Given the description of an element on the screen output the (x, y) to click on. 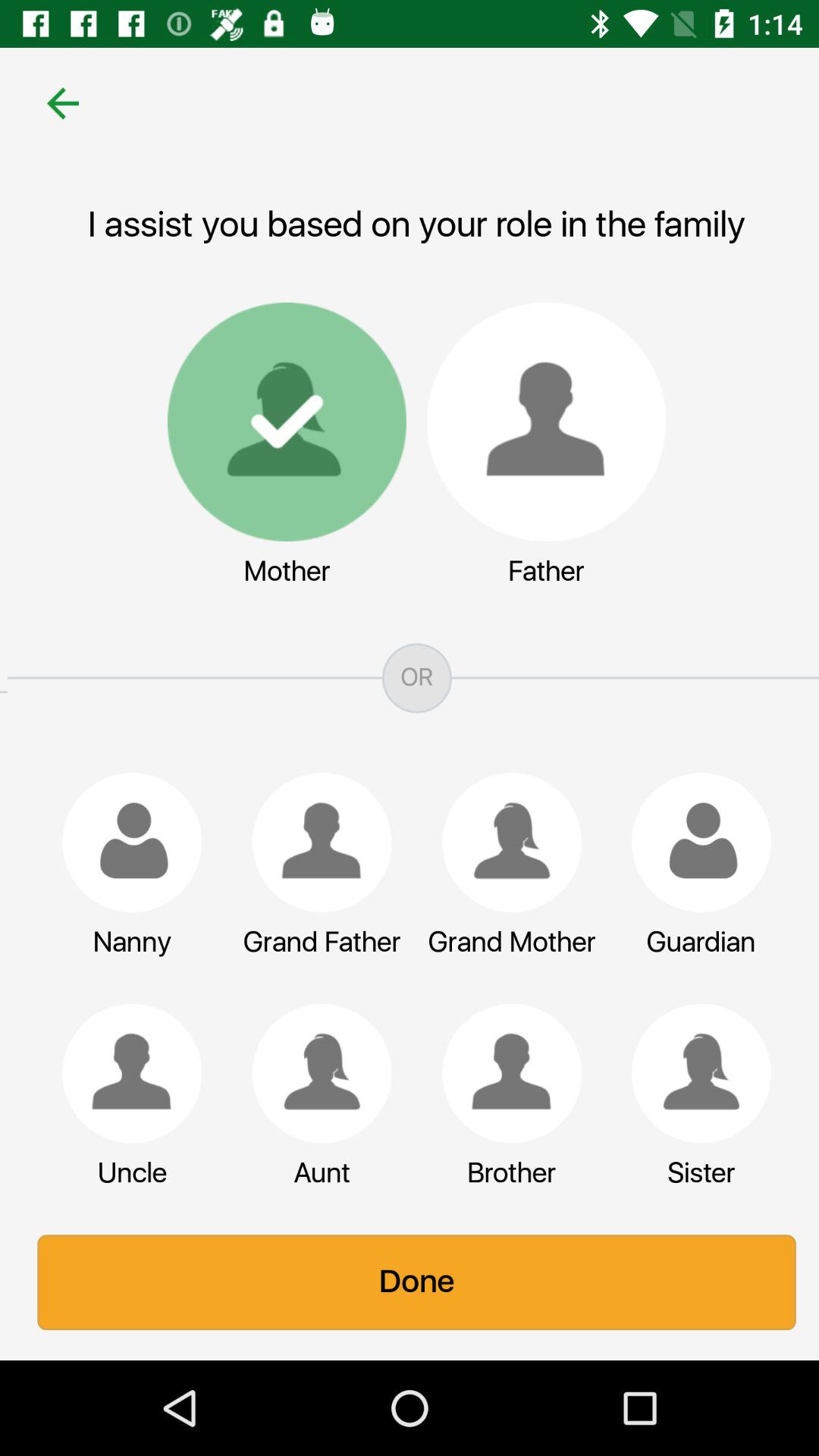
press icon above nanny (124, 842)
